Given the description of an element on the screen output the (x, y) to click on. 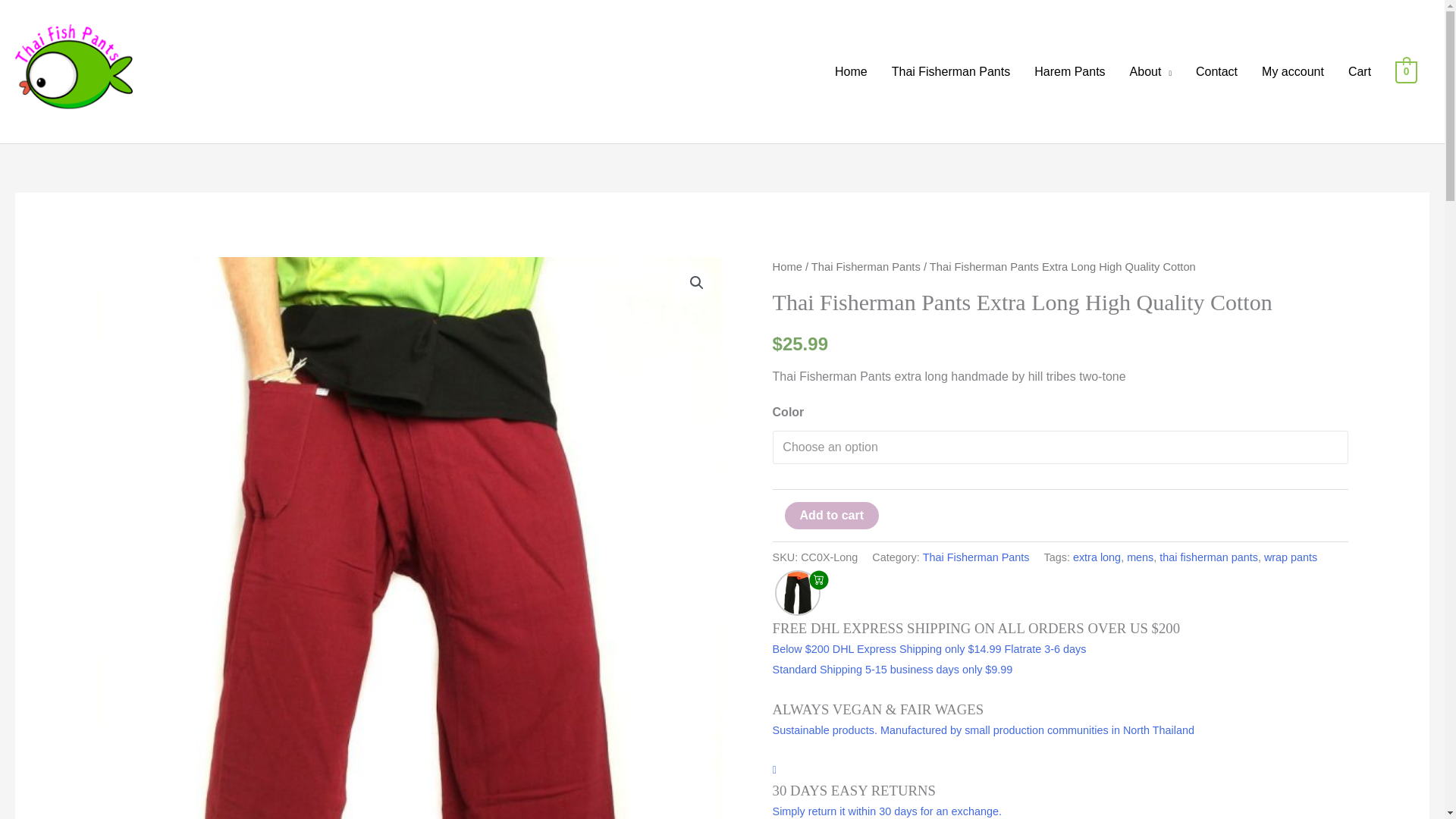
thai fisherman pants (1207, 557)
Thai Fisherman Pants (951, 70)
About (1150, 70)
My account (1292, 70)
0 (1405, 71)
mens (1139, 557)
Home (850, 70)
Contact (1216, 70)
